Given the description of an element on the screen output the (x, y) to click on. 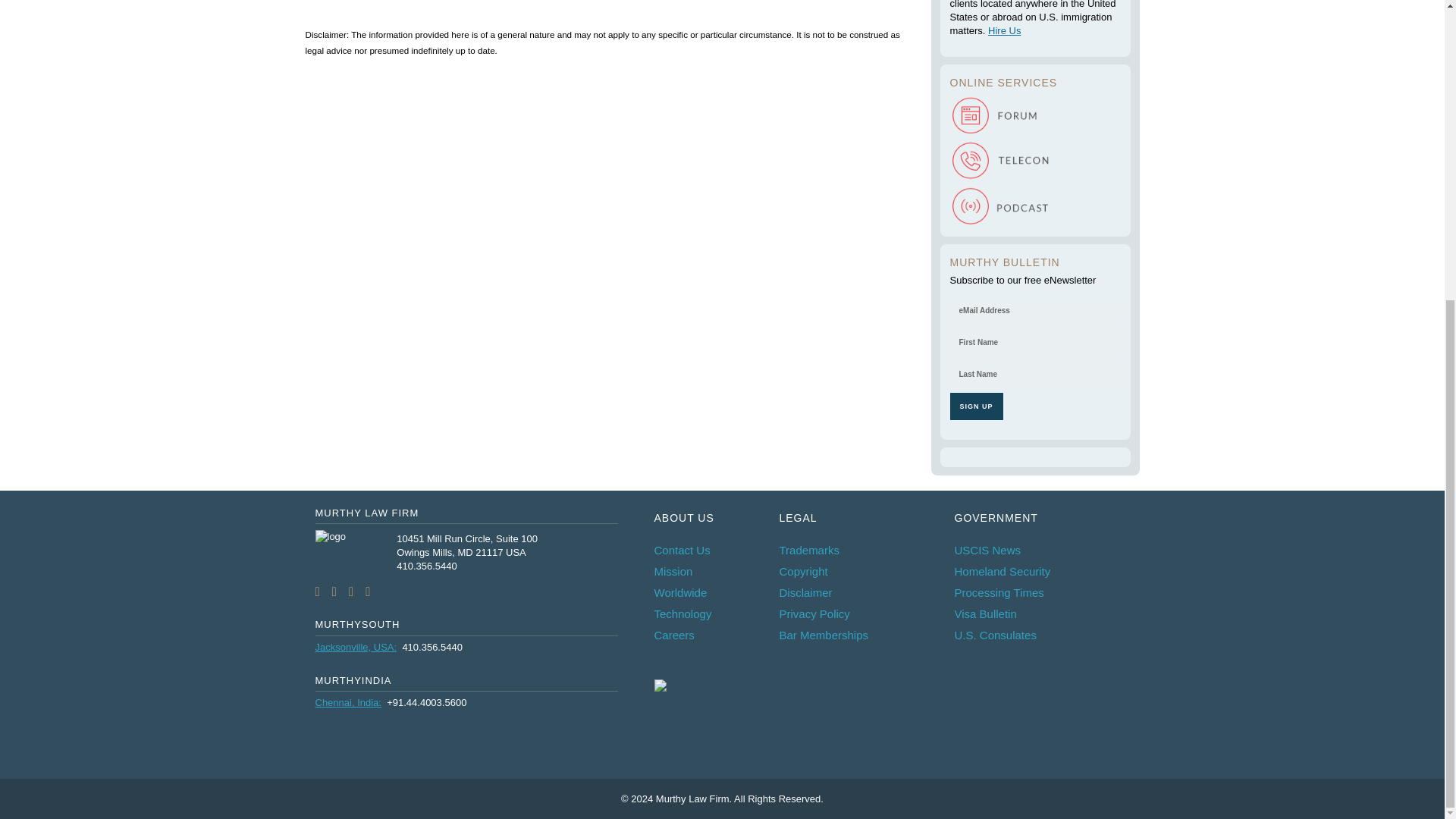
Sign up (976, 406)
